Given the description of an element on the screen output the (x, y) to click on. 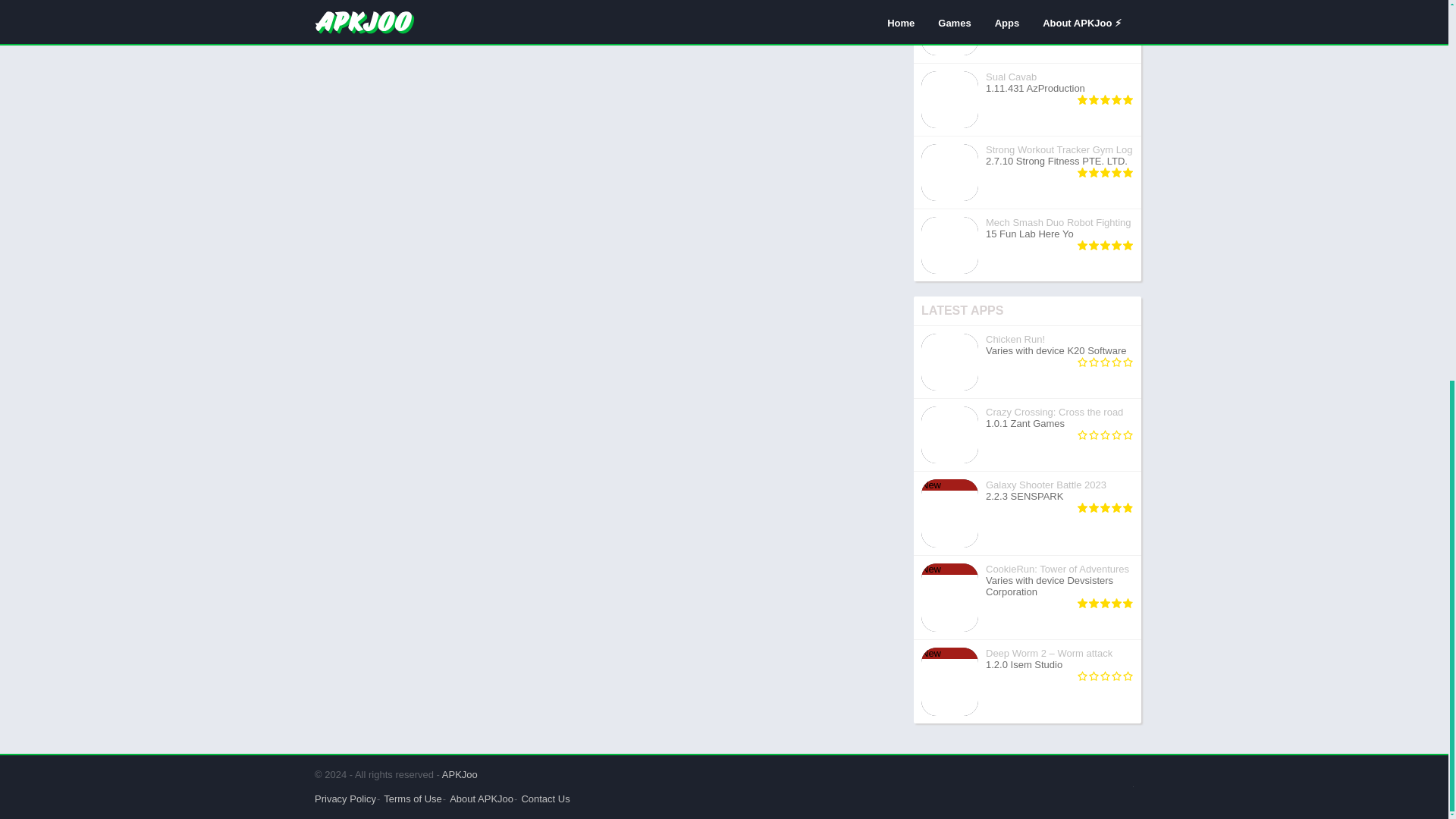
New (1027, 361)
APKJoo (1027, 513)
New (1027, 434)
New (949, 568)
